Given the description of an element on the screen output the (x, y) to click on. 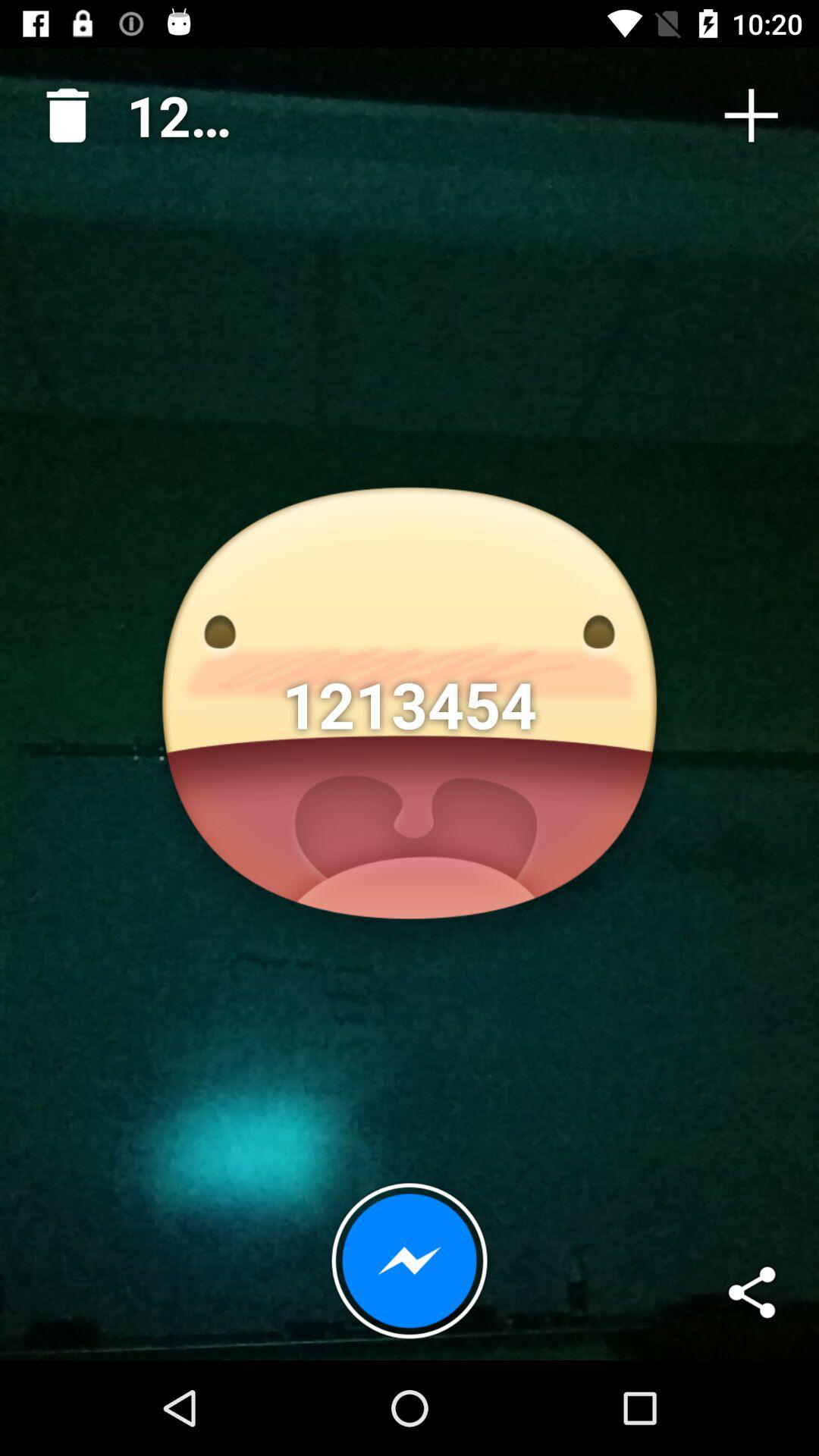
choose the icon next to the 1213454 icon (61, 109)
